Given the description of an element on the screen output the (x, y) to click on. 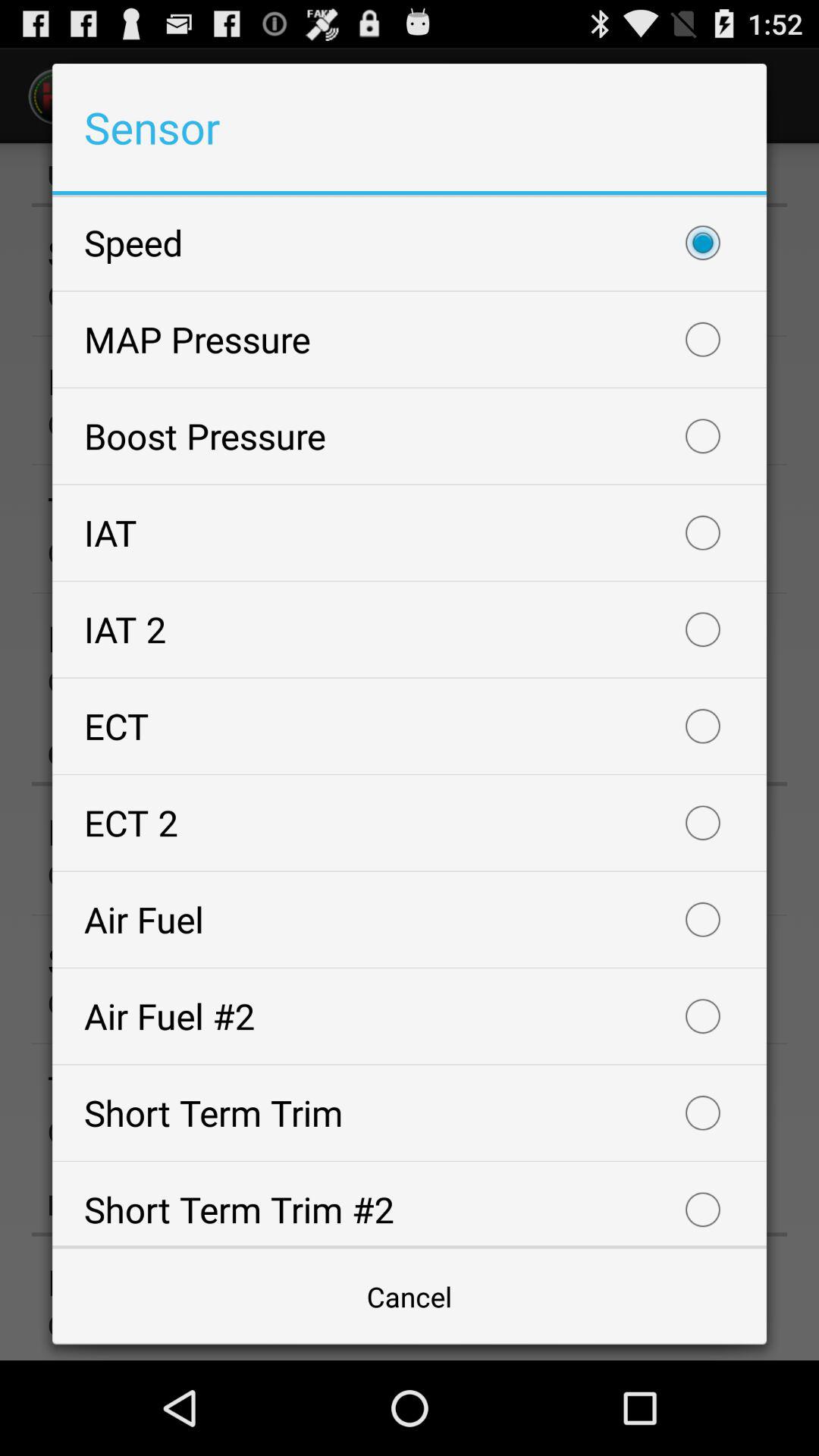
scroll to the cancel button (409, 1296)
